Given the description of an element on the screen output the (x, y) to click on. 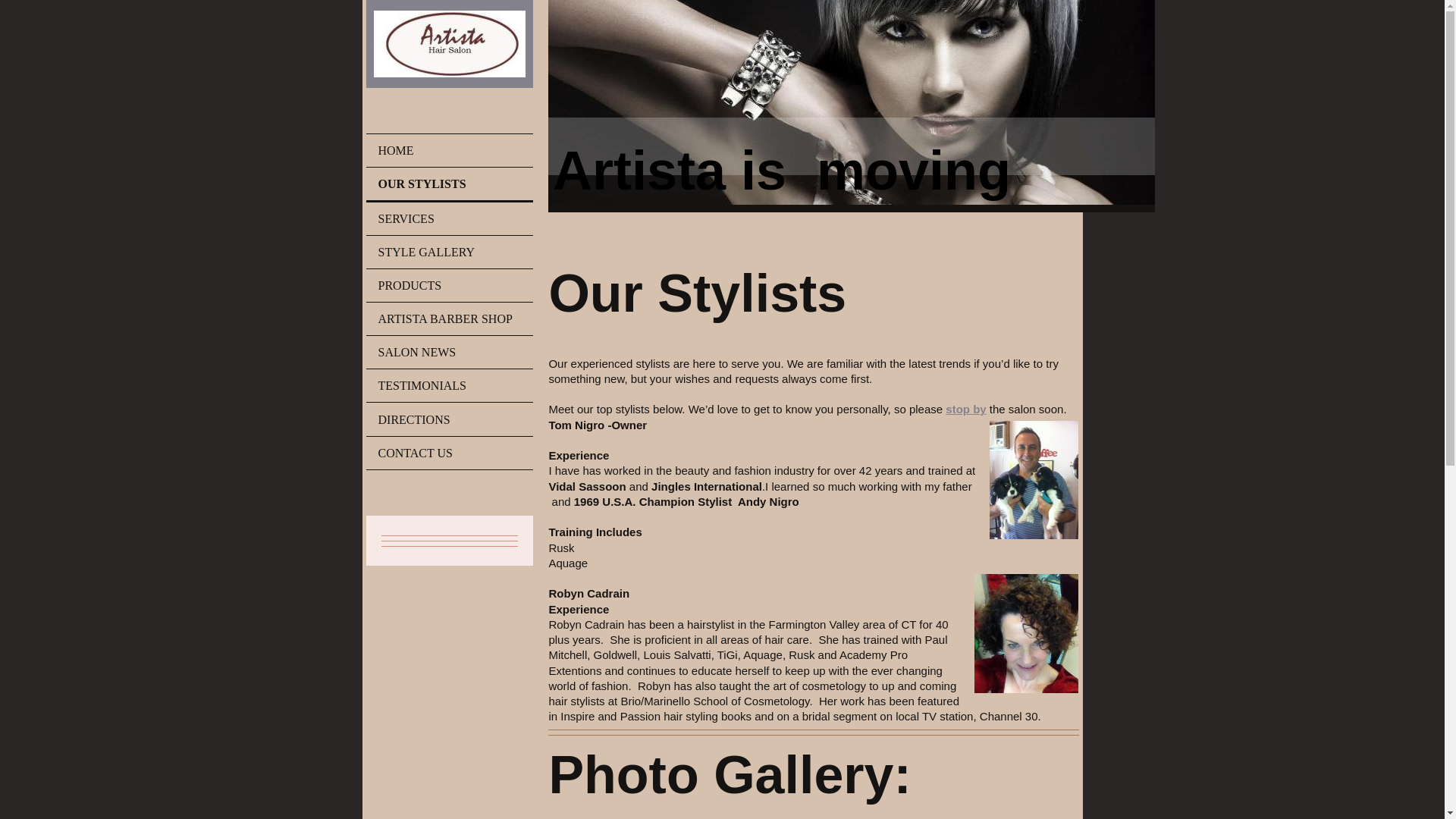
SERVICES (448, 217)
stop by (964, 408)
STYLE GALLERY (448, 251)
ARTISTA BARBER SHOP (448, 318)
CONTACT US (448, 452)
SALON NEWS (448, 351)
TESTIMONIALS (448, 385)
PRODUCTS (448, 285)
Artista is  moving (781, 170)
OUR STYLISTS (448, 184)
